Given the description of an element on the screen output the (x, y) to click on. 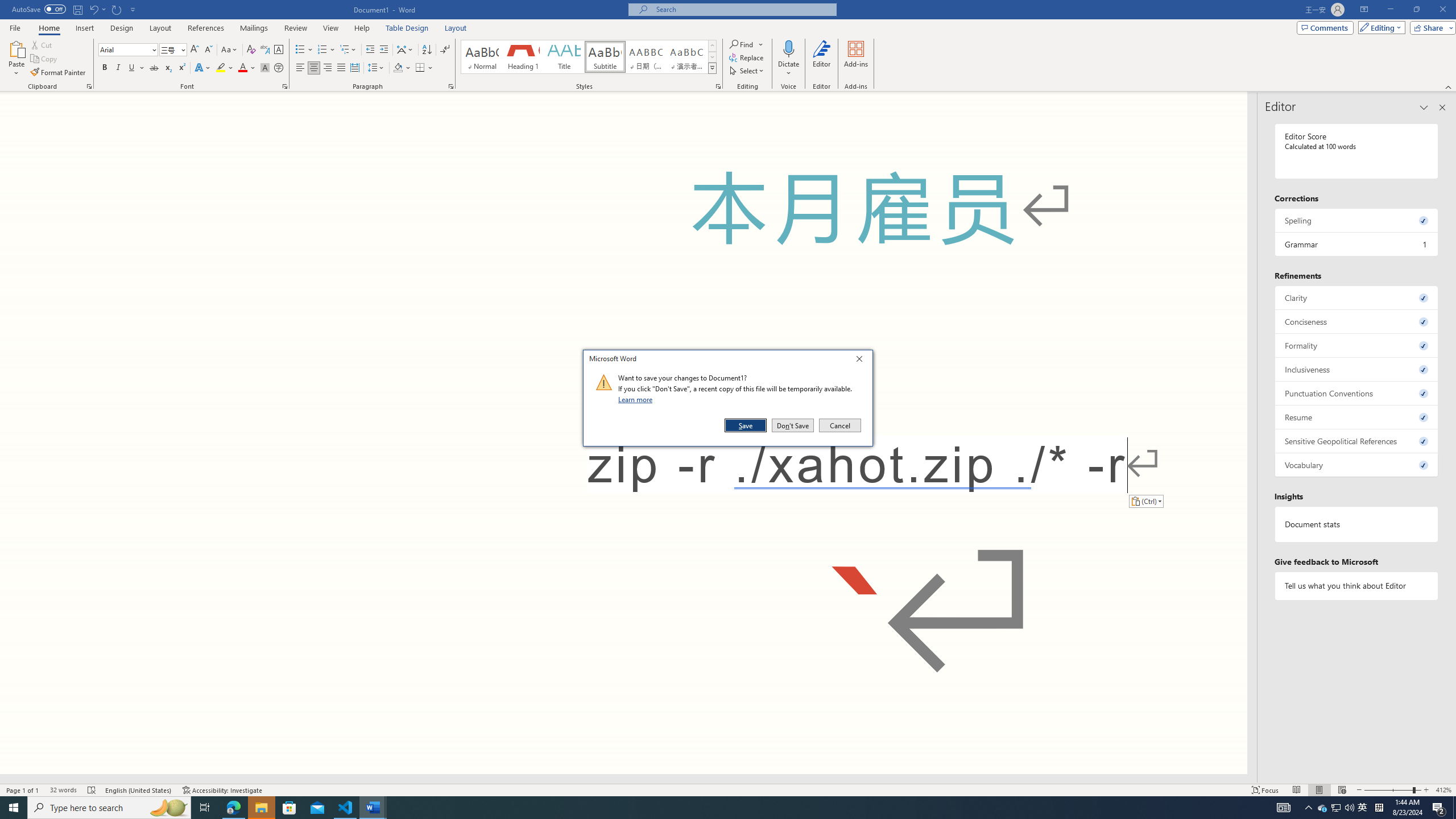
Zoom 412% (1443, 790)
